Given the description of an element on the screen output the (x, y) to click on. 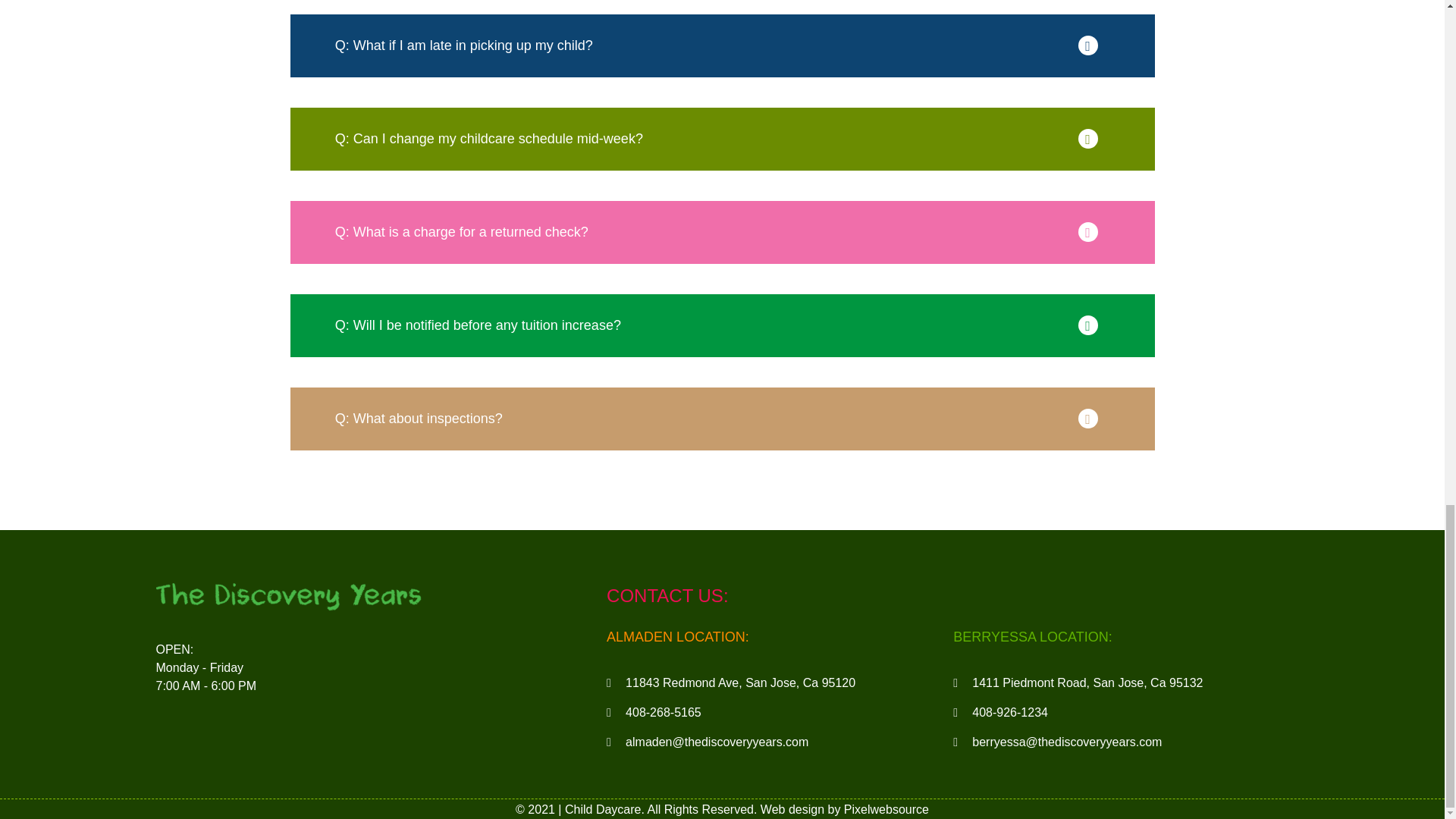
408-268-5165 (780, 712)
